Given the description of an element on the screen output the (x, y) to click on. 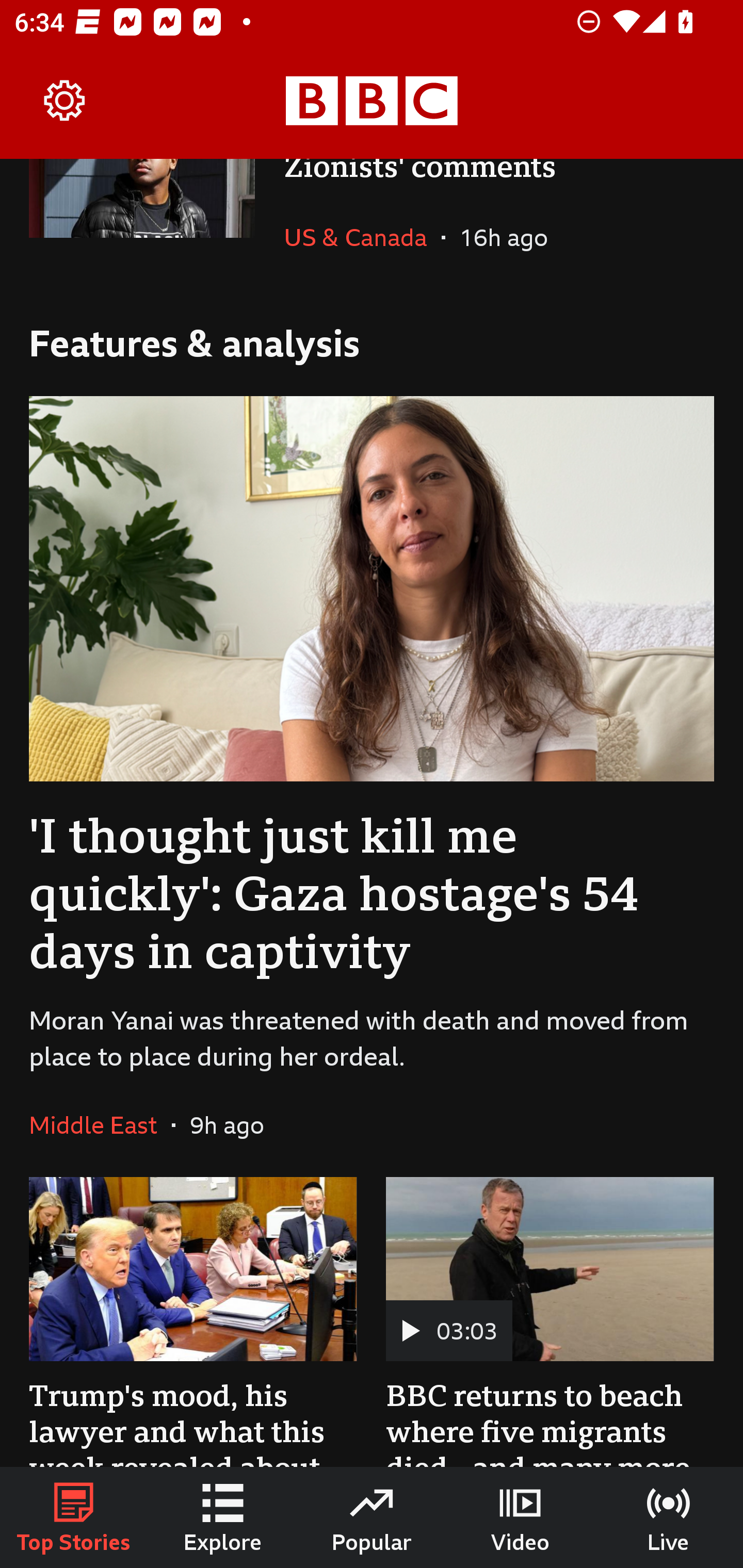
Settings (64, 100)
US & Canada In the section US & Canada (362, 237)
Middle East In the section Middle East (99, 1124)
Explore (222, 1517)
Popular (371, 1517)
Video (519, 1517)
Live (668, 1517)
